Given the description of an element on the screen output the (x, y) to click on. 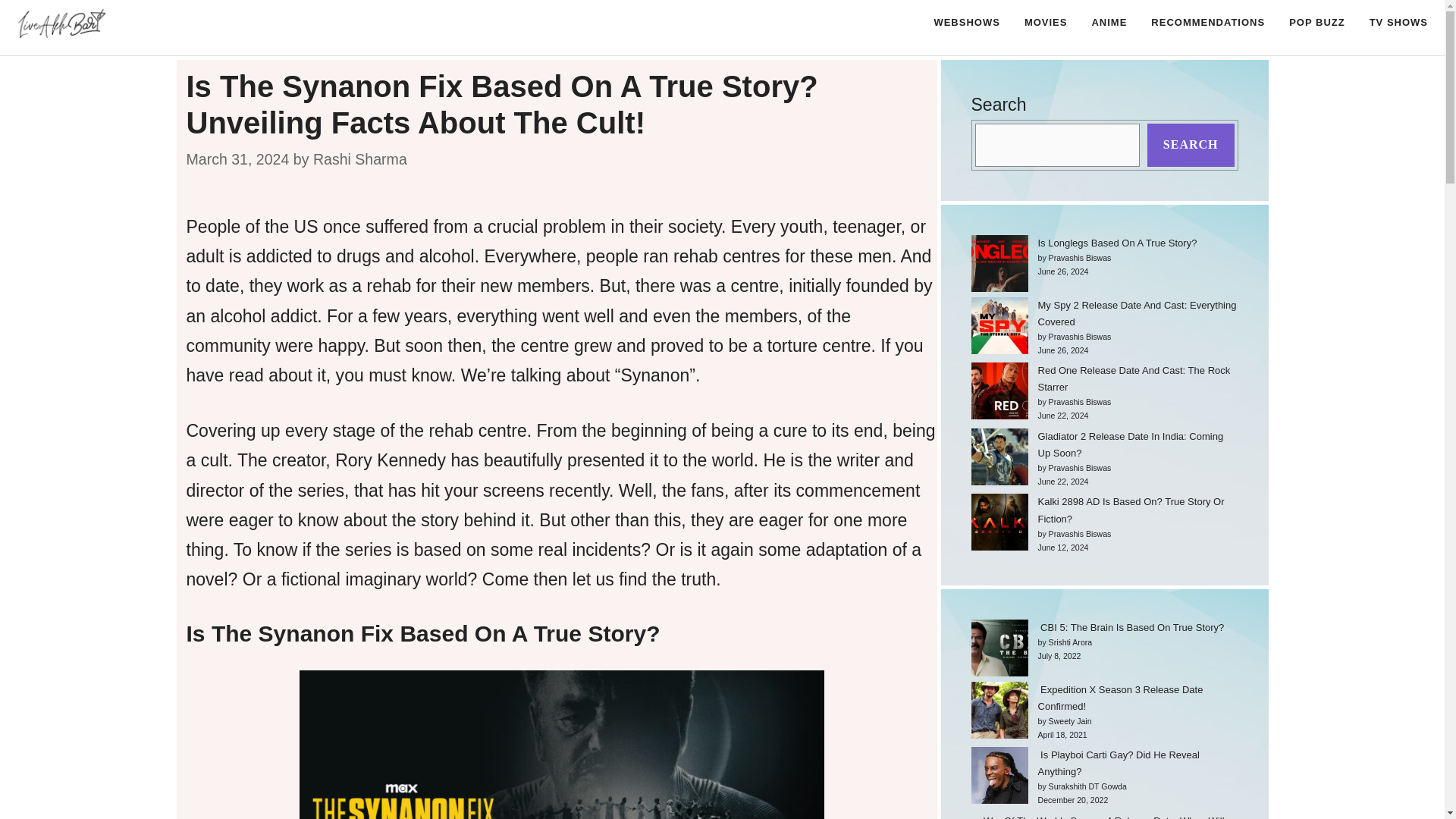
View all posts by Rashi Sharma (360, 158)
WEBSHOWS (966, 22)
Kalki 2898 AD Is Based On? True Story Or Fiction? (1130, 510)
Red One Release Date And Cast: The Rock Starrer (1133, 378)
Gladiator 2 Release Date In India: Coming Up Soon? (1129, 444)
ANIME (1108, 22)
POP BUZZ (1316, 22)
MOVIES (1045, 22)
 Expedition X Season 3 Release Date Confirmed! (1119, 697)
 CBI 5: The Brain Is Based On True Story? (1130, 627)
